Given the description of an element on the screen output the (x, y) to click on. 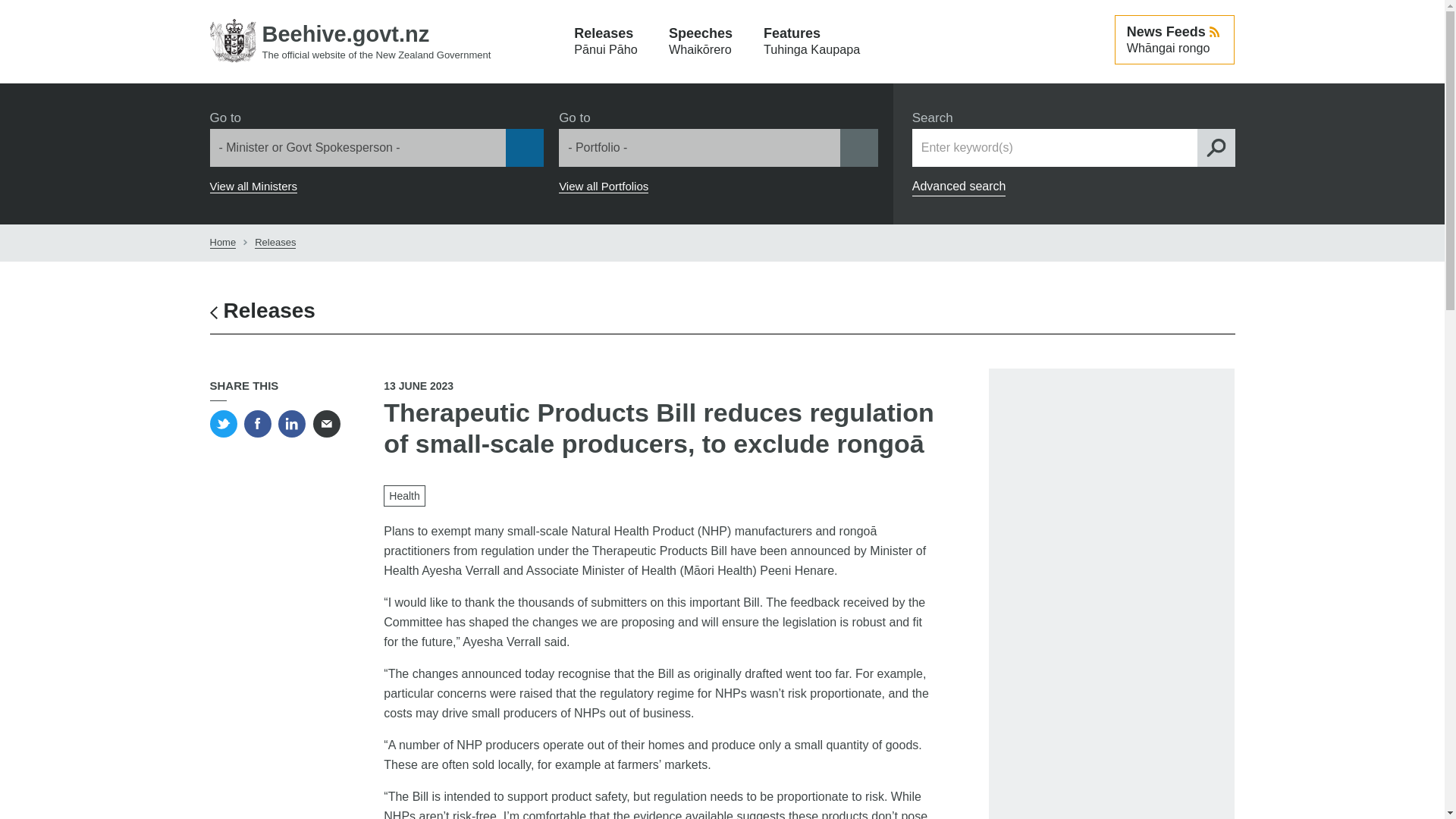
News Feeds (1174, 39)
Features (811, 41)
Twitter (222, 423)
Home (222, 242)
Releases (605, 41)
Search (1215, 147)
Facebook (257, 423)
Go (16, 13)
View all Ministers (253, 186)
View all Portfolios (603, 186)
Home (349, 40)
Releases (274, 242)
Releases (261, 310)
